Given the description of an element on the screen output the (x, y) to click on. 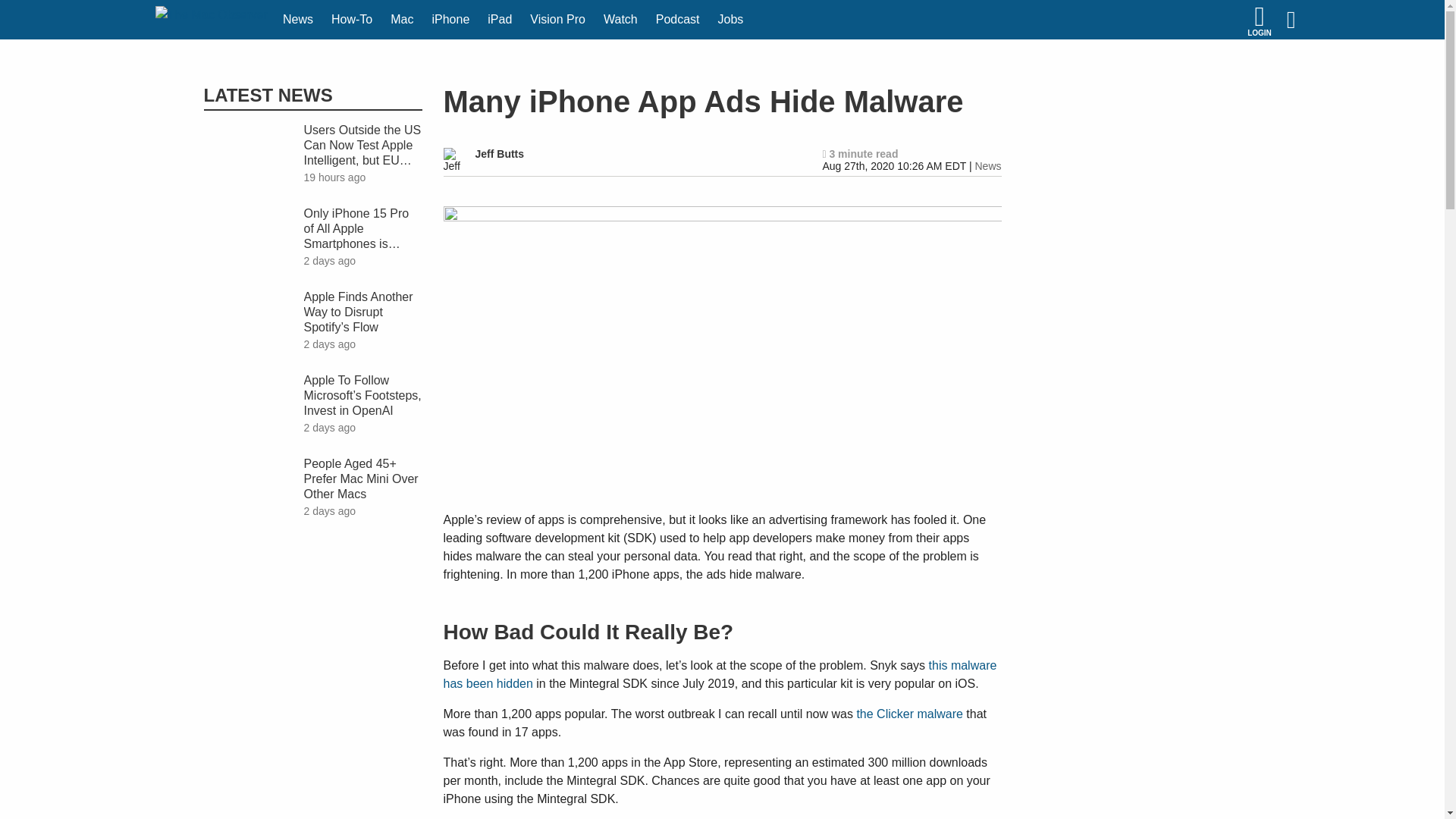
this malware has been hidden (718, 674)
The Mac Observer (210, 19)
News (987, 165)
News (297, 19)
Podcast (677, 19)
iPad (500, 19)
iPad (500, 19)
News (297, 19)
